Given the description of an element on the screen output the (x, y) to click on. 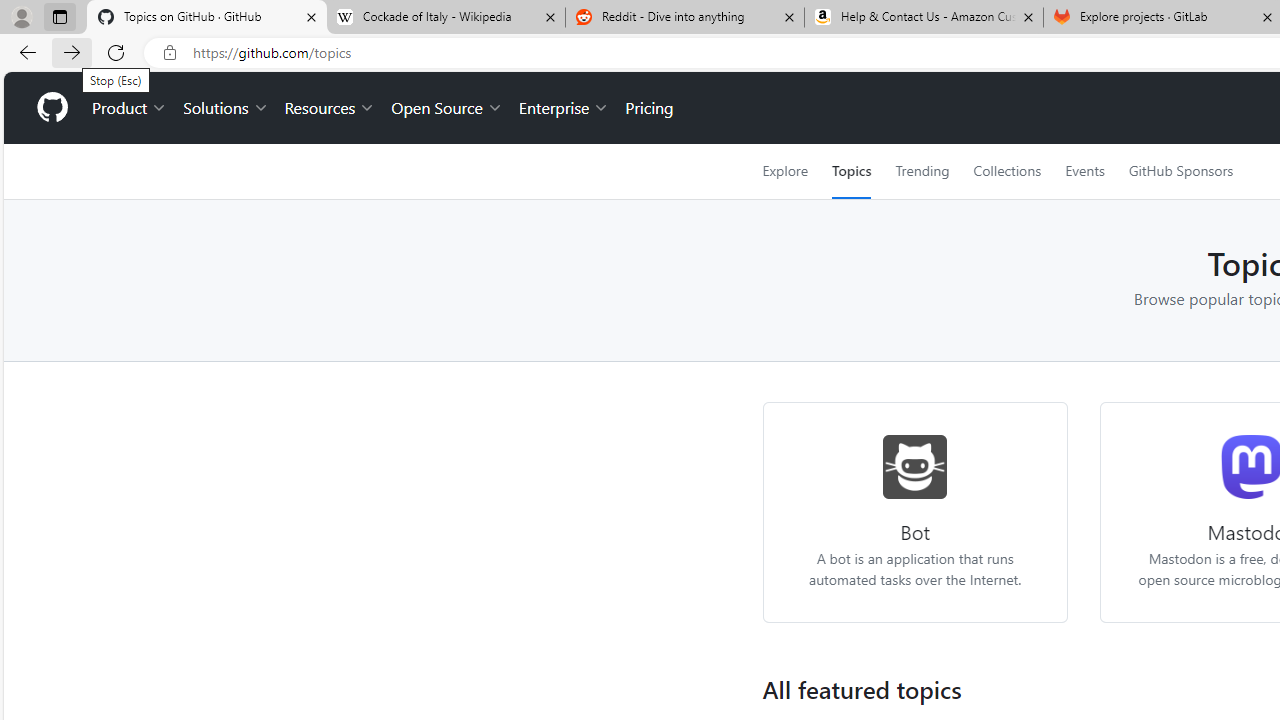
Events (1084, 171)
Topics (851, 171)
Resources (330, 107)
Open Source (446, 107)
Reddit - Dive into anything (684, 17)
Help & Contact Us - Amazon Customer Service (924, 17)
Enterprise (563, 107)
Trending (921, 171)
Cockade of Italy - Wikipedia (445, 17)
Explore (784, 171)
Forward (72, 52)
